Given the description of an element on the screen output the (x, y) to click on. 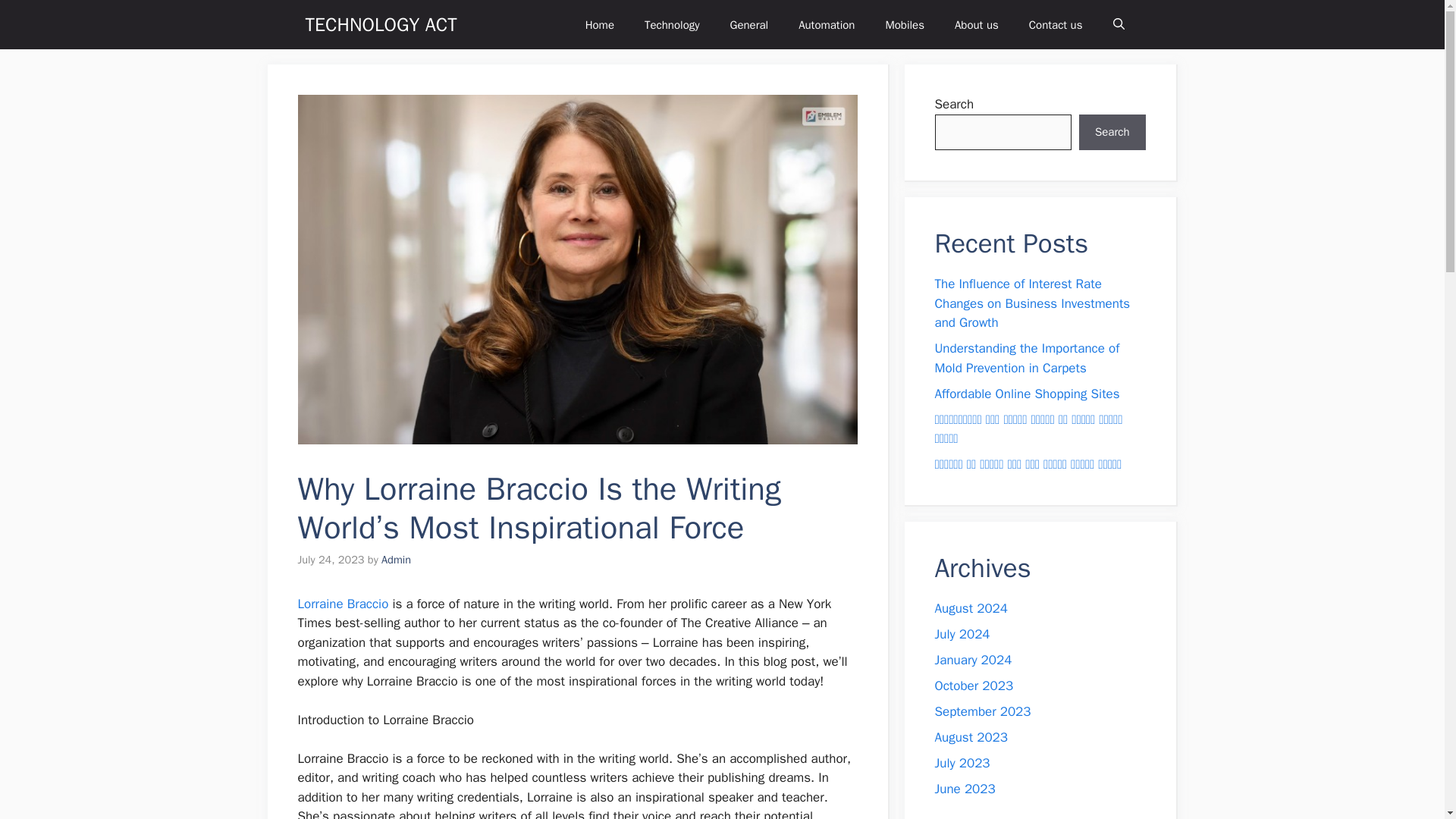
Home (599, 23)
Search (1111, 131)
Contact us (1055, 23)
Lorraine Braccio (342, 603)
September 2023 (982, 711)
View all posts by Admin (395, 559)
Affordable Online Shopping Sites (1026, 392)
General (749, 23)
January 2024 (972, 659)
Understanding the Importance of Mold Prevention in Carpets (1026, 357)
